Given the description of an element on the screen output the (x, y) to click on. 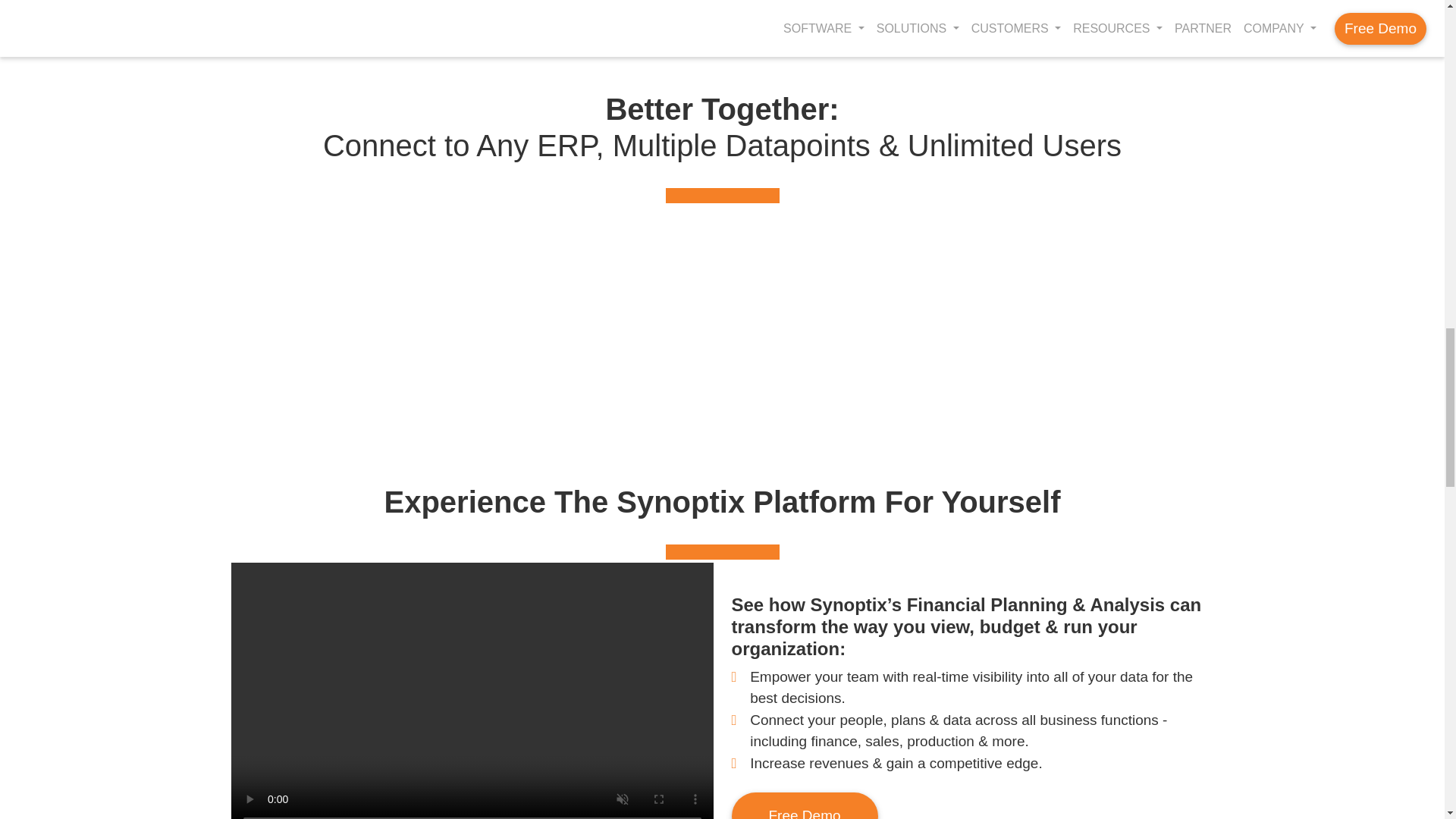
Free Demo (803, 805)
